Given the description of an element on the screen output the (x, y) to click on. 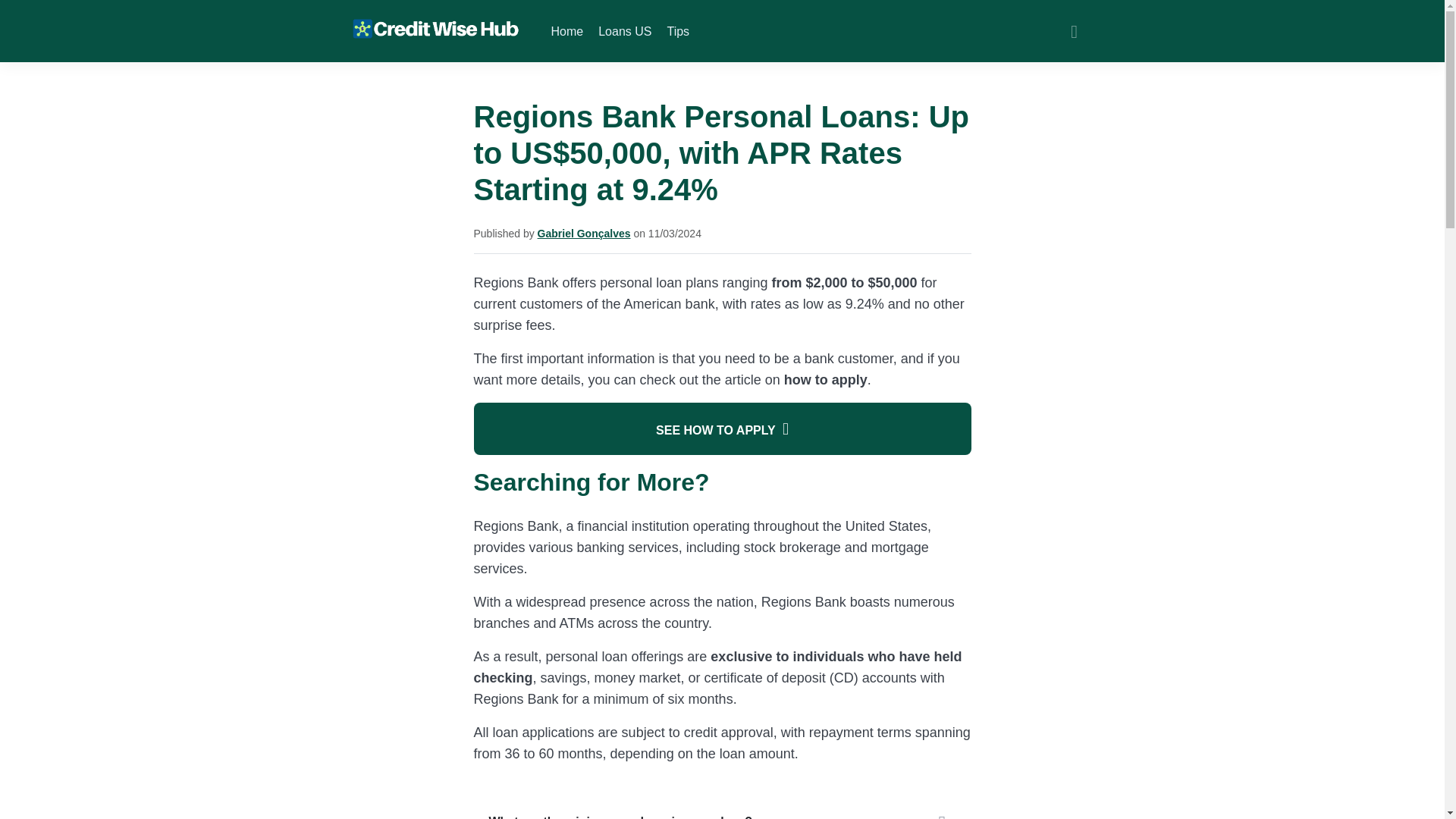
Home (566, 31)
SEE HOW TO APPLY (722, 428)
Loans US (624, 31)
Search (1074, 31)
Search (1074, 31)
Tips (677, 31)
What are the minimum and maximum values? (722, 806)
